Given the description of an element on the screen output the (x, y) to click on. 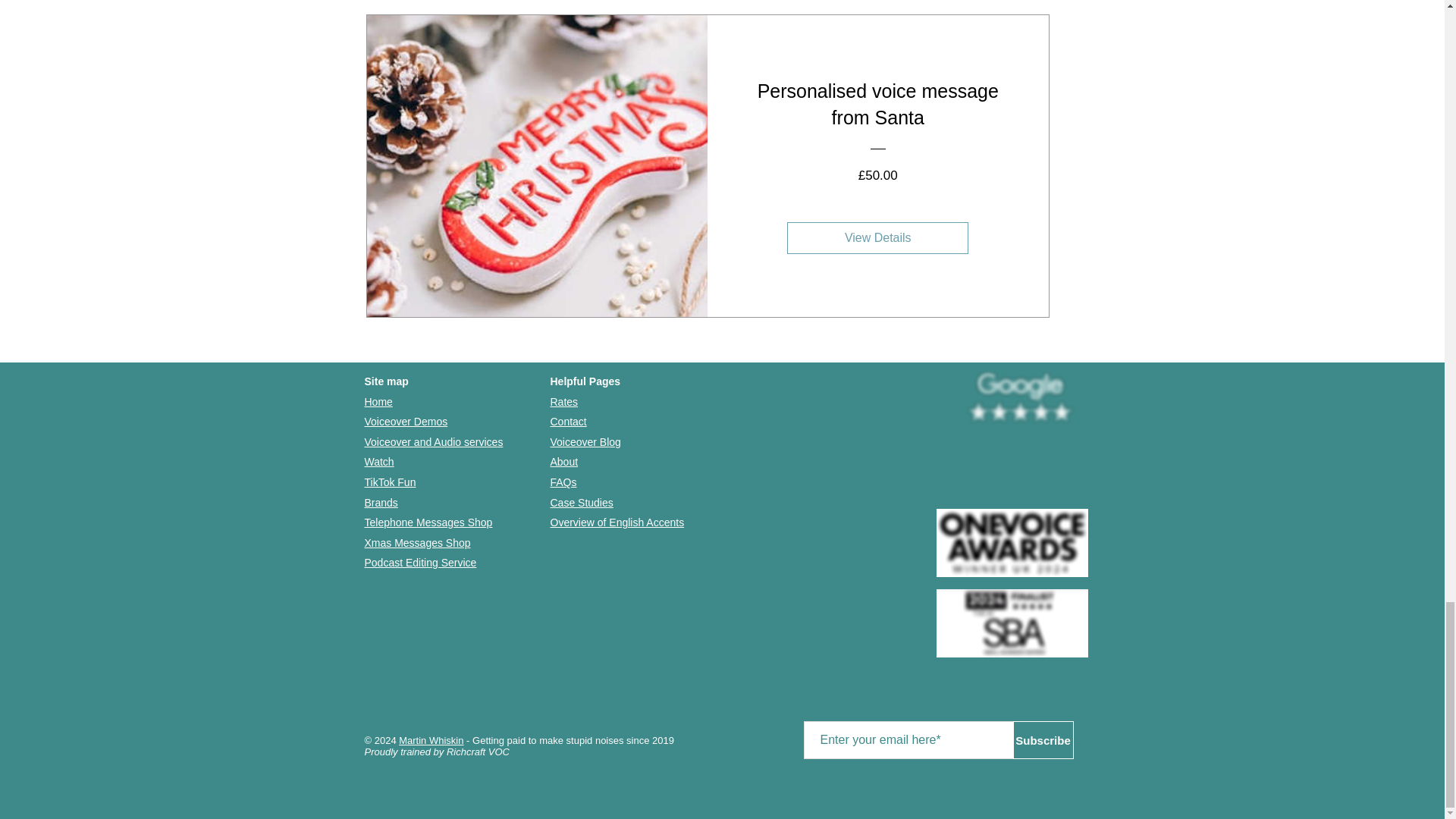
Martn WhiskinVoiceover Aertist is rated 5 stars on Google (1018, 398)
FAQs (563, 481)
Telephone Messages Shop (428, 522)
Overview of English Accents (617, 522)
Brands (380, 502)
Watch (378, 461)
About (564, 461)
TikTok Fun (389, 481)
Home (377, 401)
Contact (568, 421)
